Given the description of an element on the screen output the (x, y) to click on. 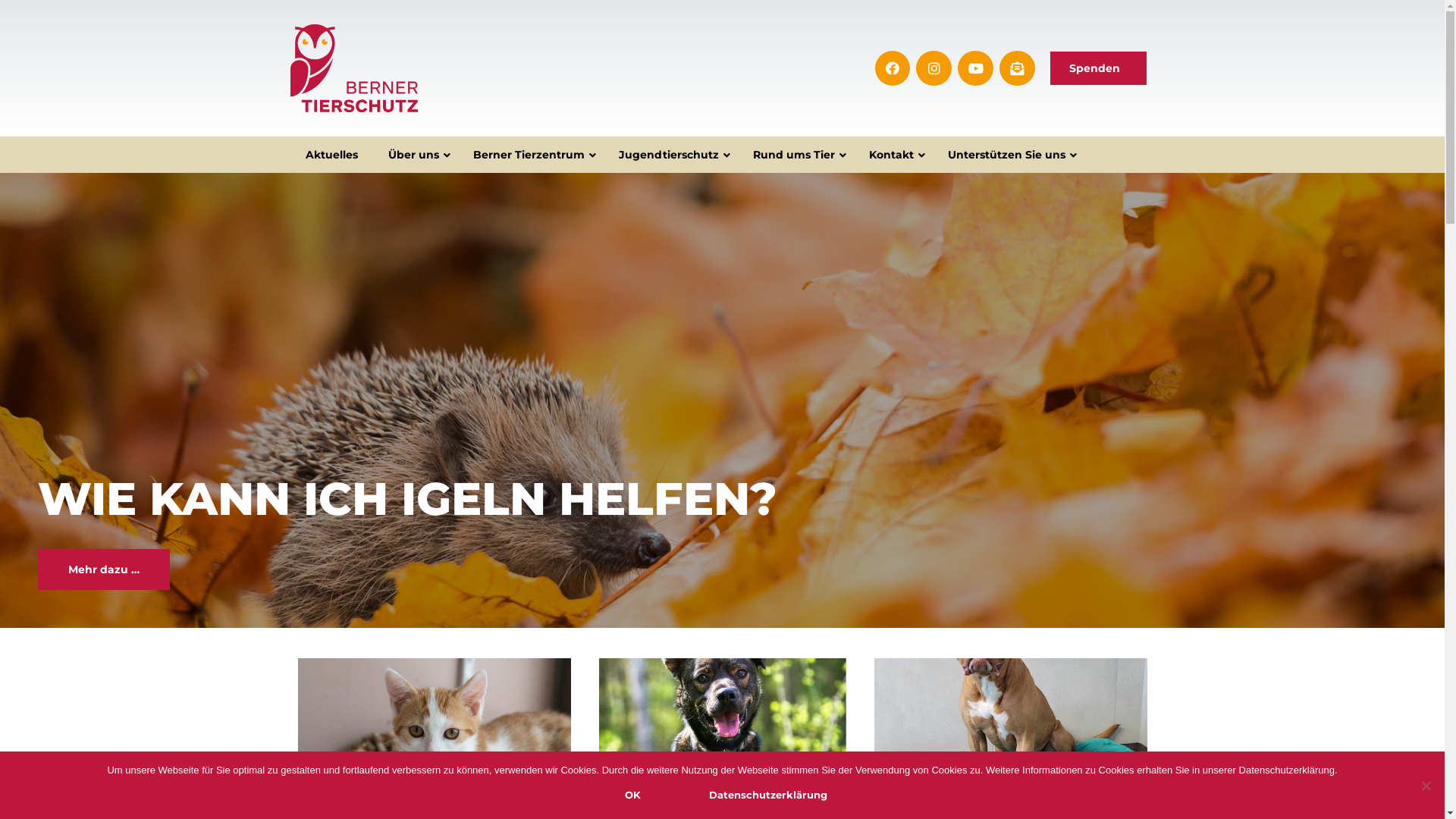
OK Element type: text (632, 794)
Youtube Element type: text (975, 68)
Berner Tierzentrum Element type: text (530, 154)
Spenden Element type: text (1098, 67)
Nein Element type: hover (1425, 785)
Aktuelles Element type: text (330, 154)
Facebook Element type: text (892, 68)
Rund ums Tier Element type: text (795, 154)
Instagram Element type: text (933, 68)
Envelope-open-text Element type: text (1017, 68)
Jugendtierschutz Element type: text (670, 154)
Kontakt Element type: text (892, 154)
